Given the description of an element on the screen output the (x, y) to click on. 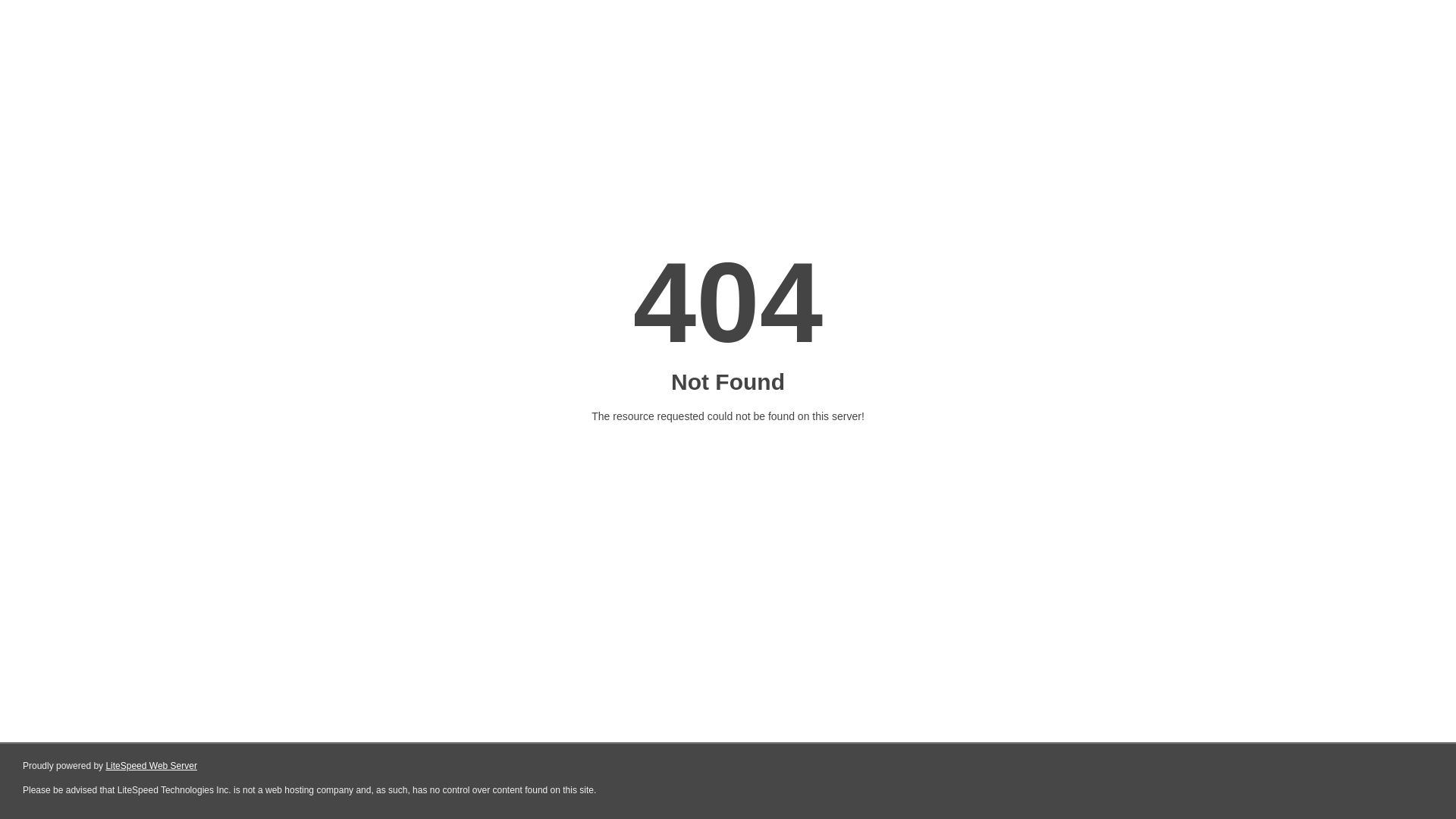
LiteSpeed Web Server Element type: text (151, 765)
